Given the description of an element on the screen output the (x, y) to click on. 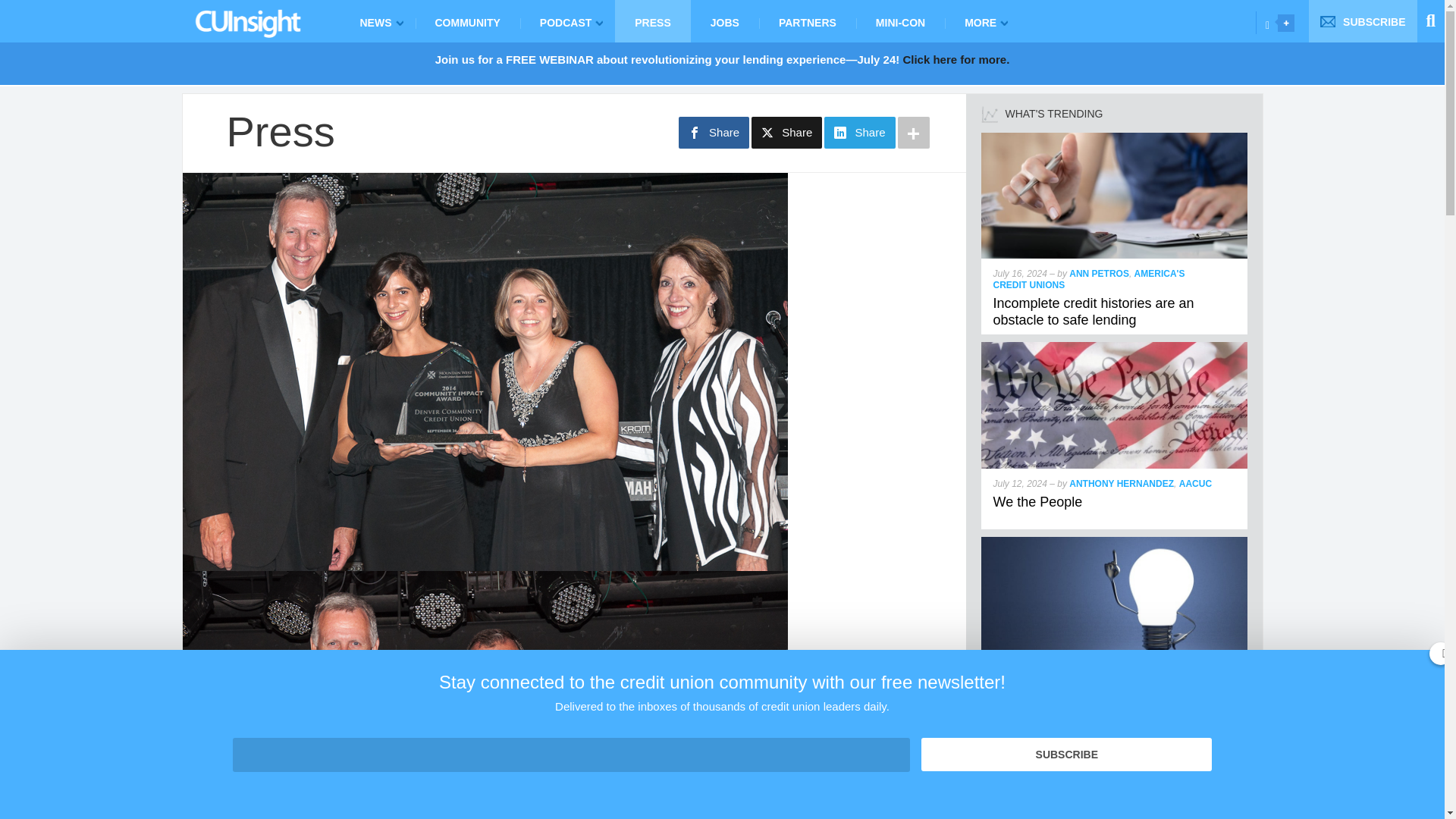
Incomplete credit histories are an obstacle to safe lending (1092, 311)
Incomplete credit histories are an obstacle to safe lending (1114, 138)
PODCAST (566, 21)
PARTNERS (807, 21)
Share (786, 132)
COMMUNITY (466, 21)
We the People (1037, 501)
We the People (1114, 348)
Share (859, 132)
Share (713, 132)
PRESS (652, 21)
MORE (982, 21)
Subscribe (1066, 754)
Press (279, 131)
Vision casting: Mid-year insights for credit union leaders (1114, 543)
